Given the description of an element on the screen output the (x, y) to click on. 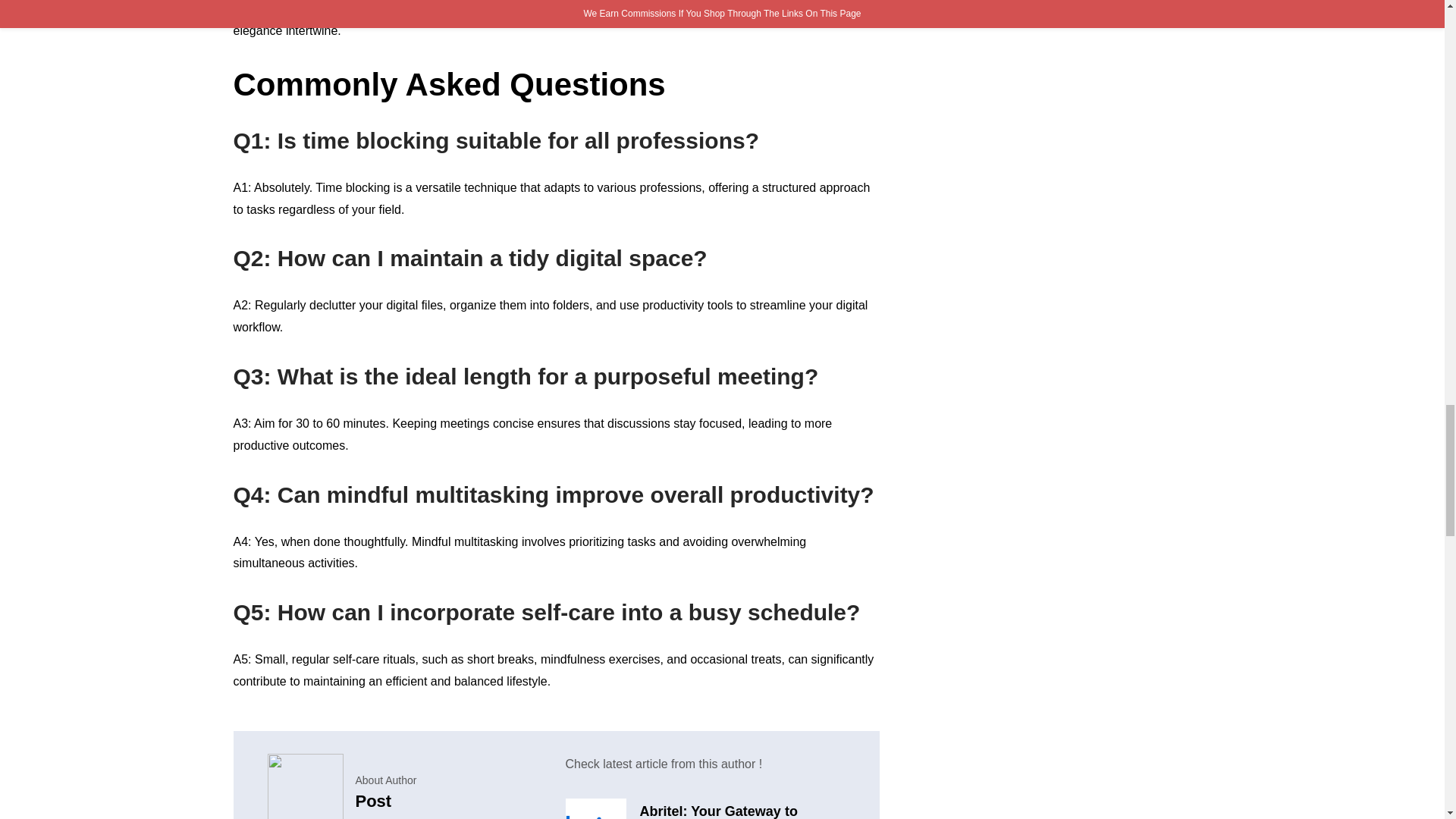
Abritel: Your Gateway to Dream Vacations in 2024 (742, 811)
